Given the description of an element on the screen output the (x, y) to click on. 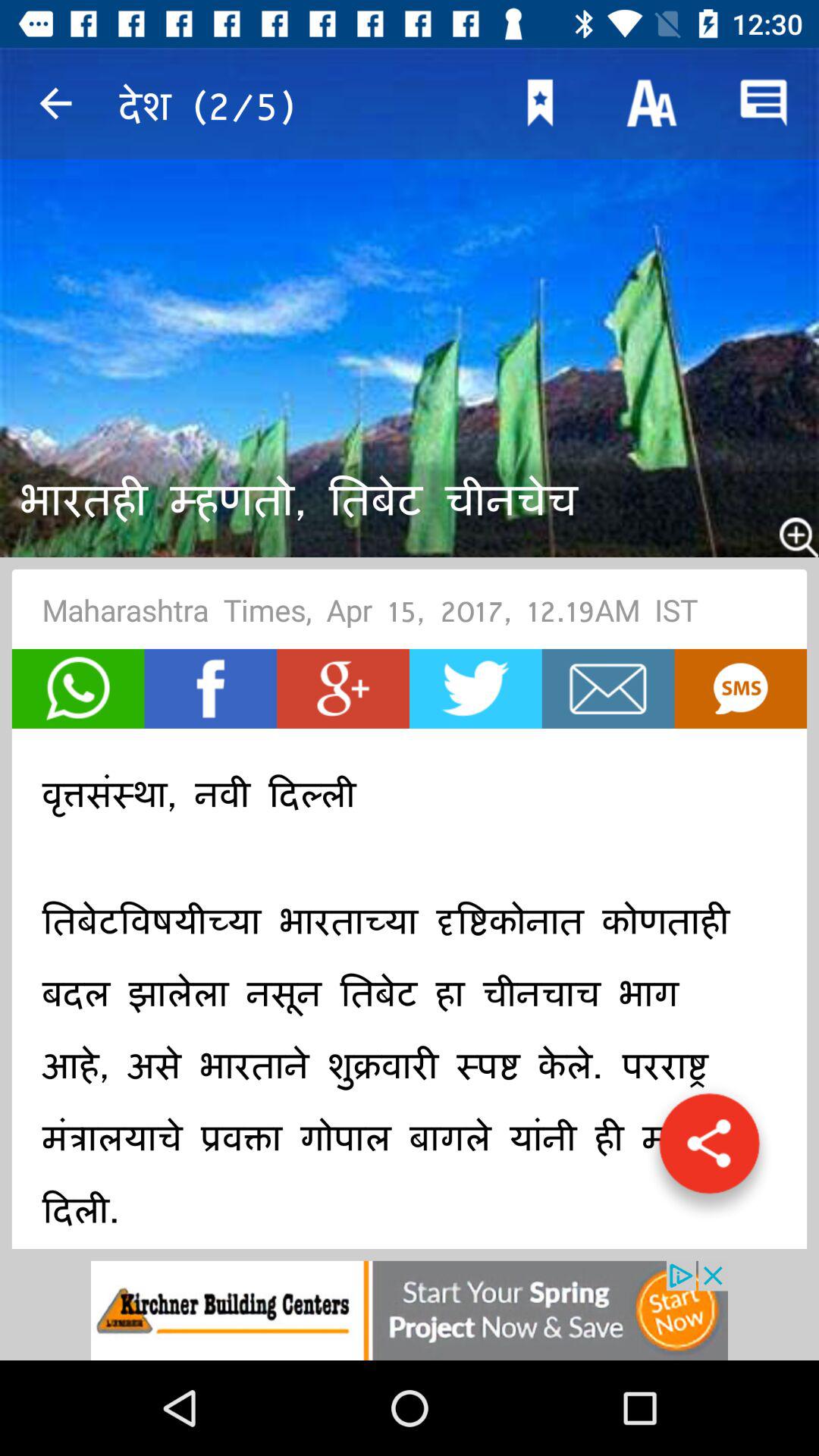
go to gallery (709, 1151)
